Given the description of an element on the screen output the (x, y) to click on. 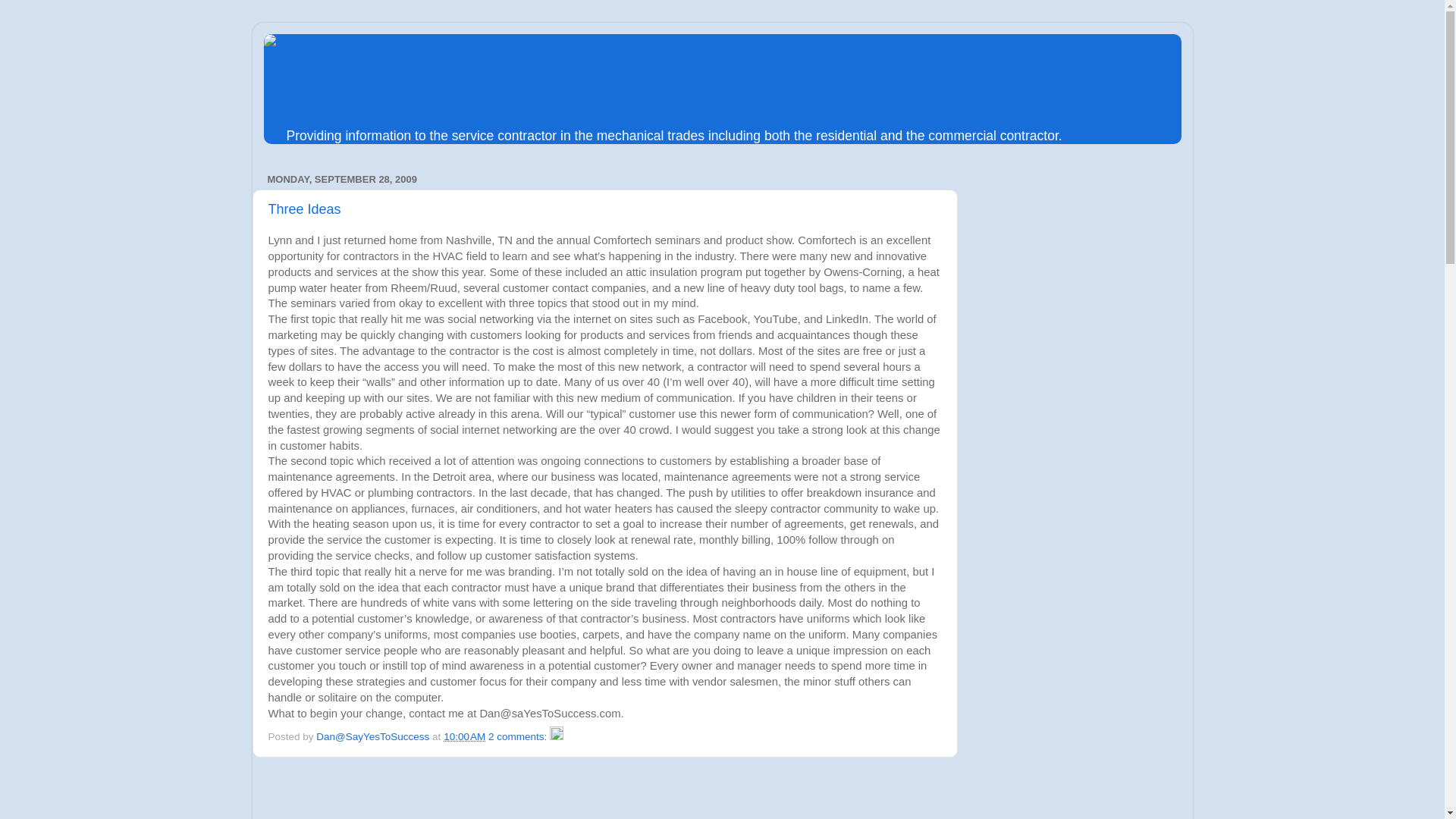
Edit Post (556, 736)
Advertisement (380, 796)
permanent link (464, 736)
Three Ideas (303, 209)
author profile (373, 736)
2 comments: (518, 736)
